Given the description of an element on the screen output the (x, y) to click on. 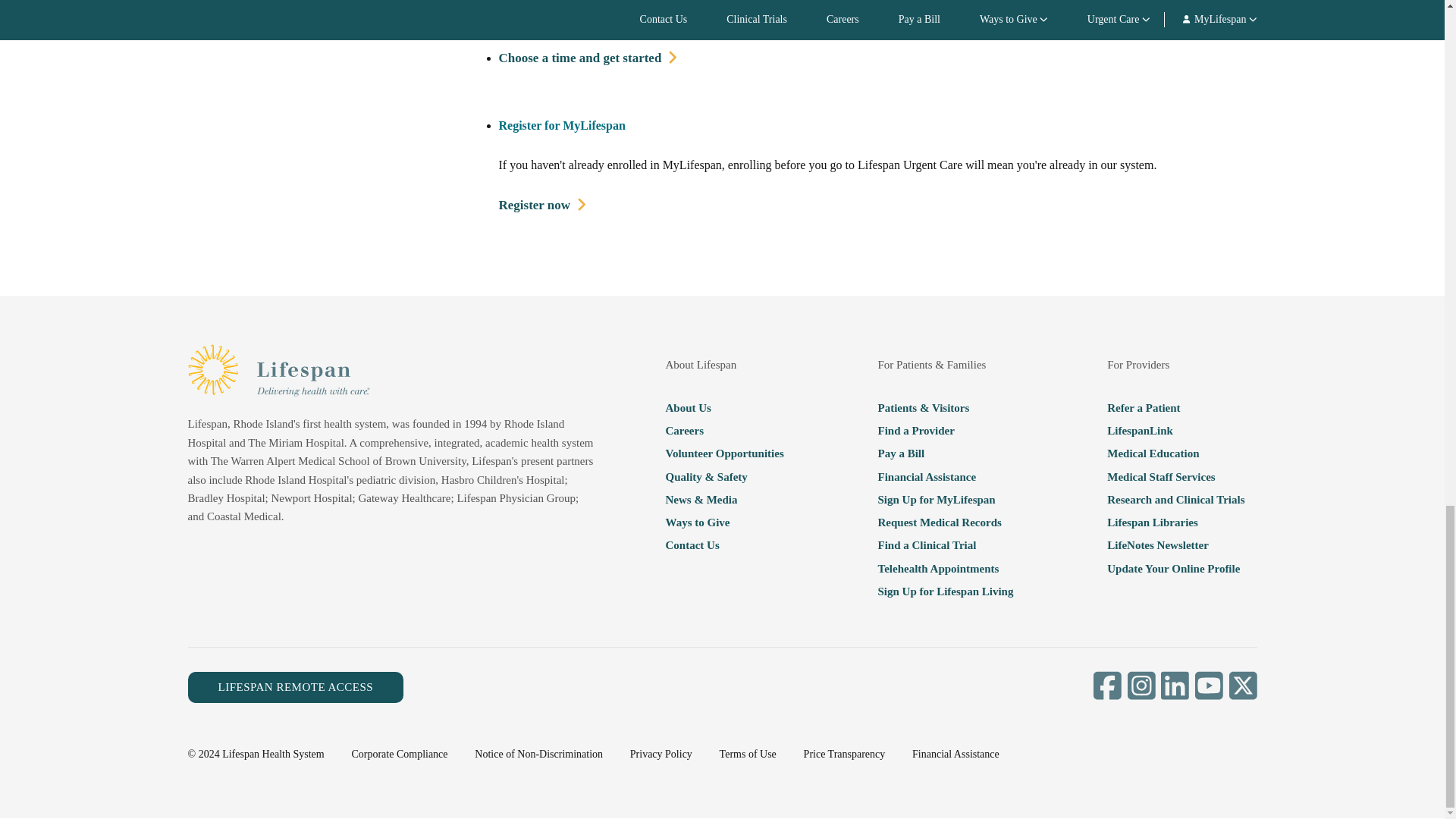
Register Now for MyLifespan (542, 205)
Find a clinical trial (945, 545)
Schedule an appointment with Lifespan Urgent Care (588, 58)
Pay a bill online (945, 453)
How to participate in a telehealth appointment (945, 568)
How to request medical records (945, 522)
Ways to give to Lifespan hospitals (724, 522)
Sign up or access the MyLifespan online patient portal (945, 499)
Find a Lifespan provider (945, 430)
